Given the description of an element on the screen output the (x, y) to click on. 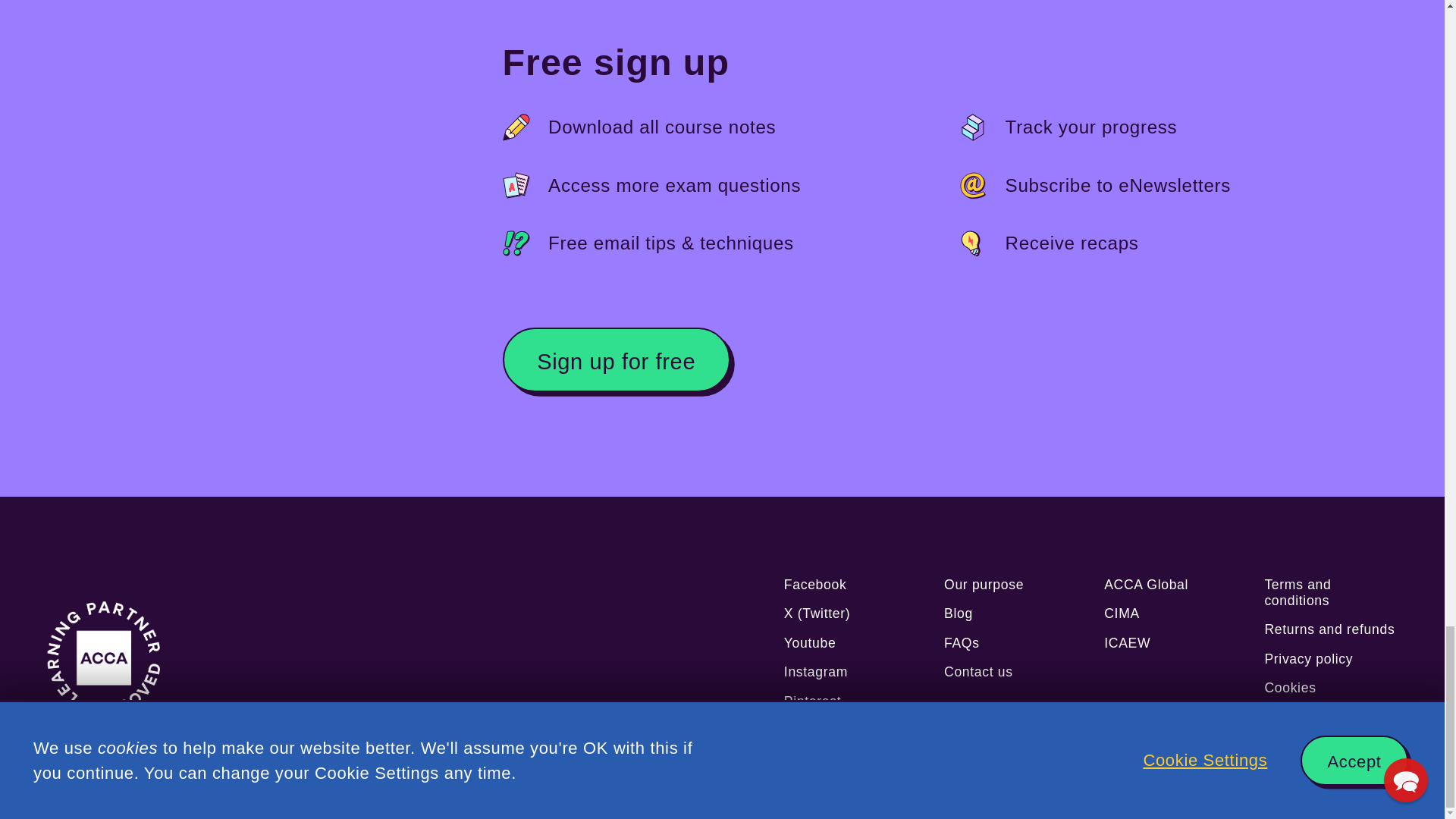
FAQs (1010, 643)
ACCA Global (1170, 584)
Instagram (850, 672)
Sign up for free (616, 359)
Blog (1010, 613)
Our purpose (1010, 584)
Contact us (1010, 672)
Pinterest (850, 701)
Facebook (850, 584)
Youtube (850, 643)
